Given the description of an element on the screen output the (x, y) to click on. 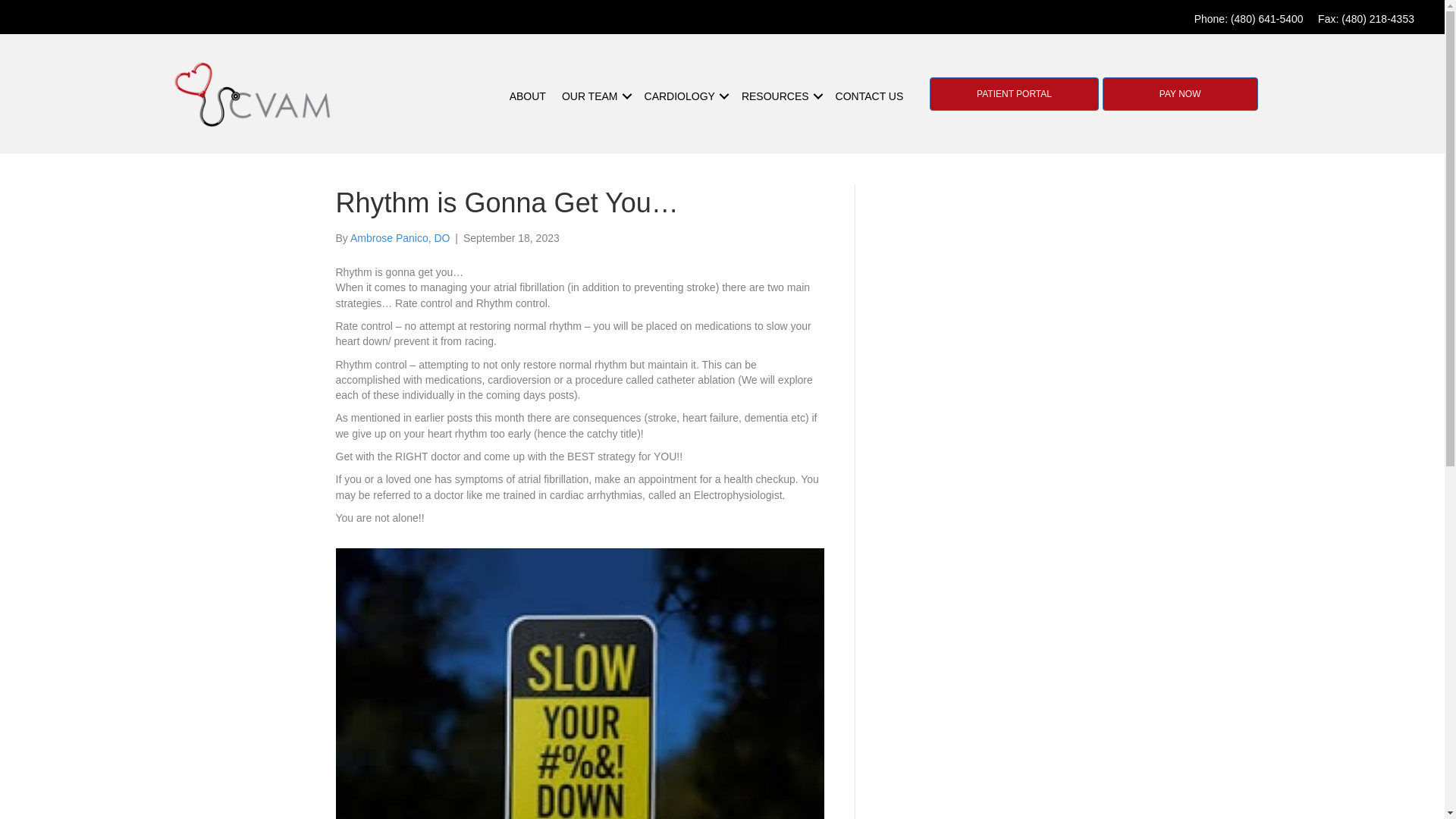
PATIENT PORTAL (1014, 93)
CARDIOLOGY (685, 95)
RESOURCES (780, 95)
ABOUT (527, 95)
OUR TEAM (595, 95)
CONTACT US (869, 95)
PAY NOW (1179, 93)
rsh 101 (252, 95)
